Given the description of an element on the screen output the (x, y) to click on. 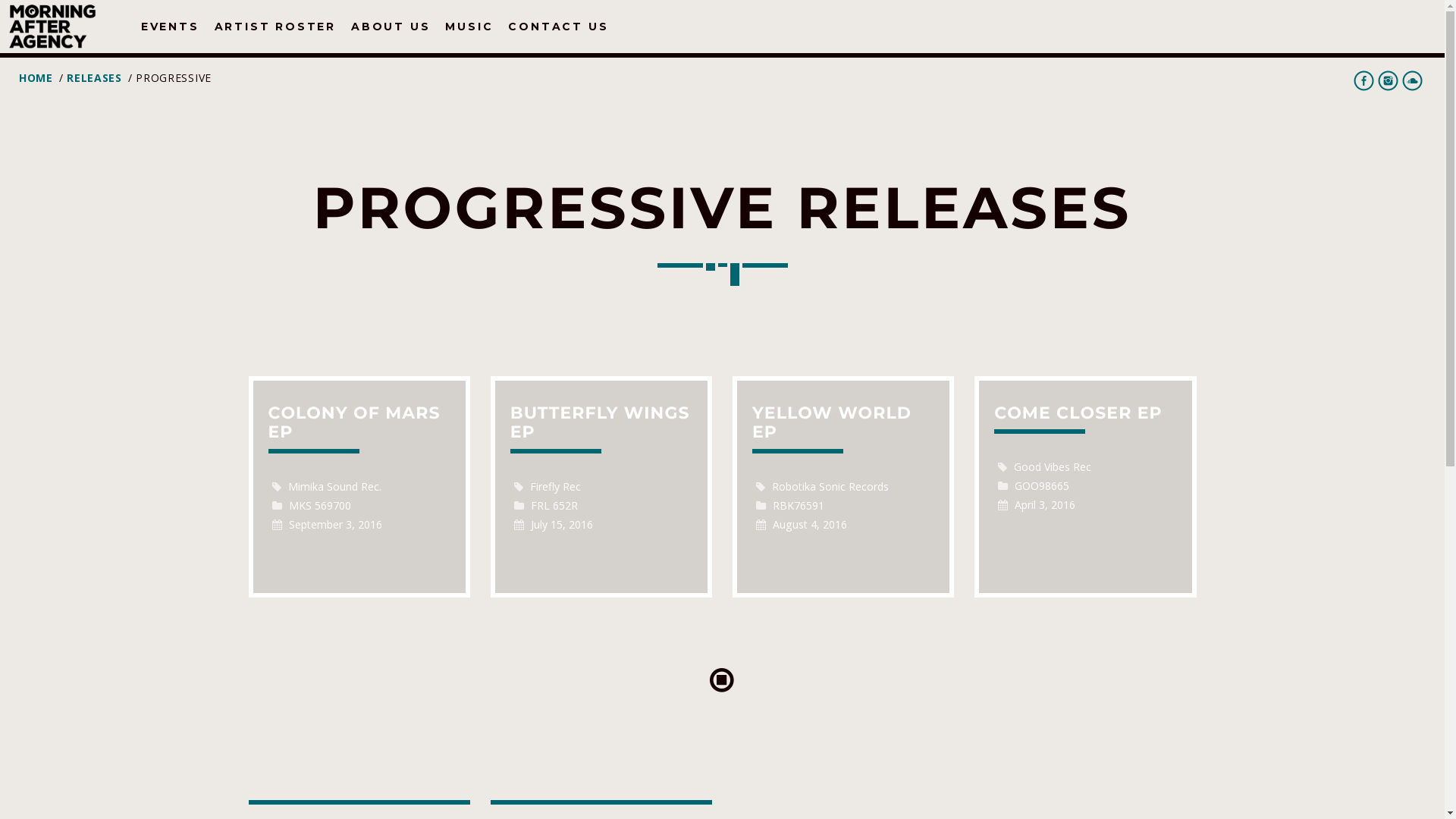
read Element type: text (1085, 486)
EVENTS Element type: text (170, 26)
MUSIC Element type: text (468, 26)
ABOUT US Element type: text (390, 26)
HOME Element type: text (35, 77)
CONTACT US Element type: text (557, 26)
read Element type: text (601, 486)
RELEASES Element type: text (94, 77)
read Element type: text (843, 486)
read Element type: text (359, 486)
ARTIST ROSTER Element type: text (275, 26)
